Given the description of an element on the screen output the (x, y) to click on. 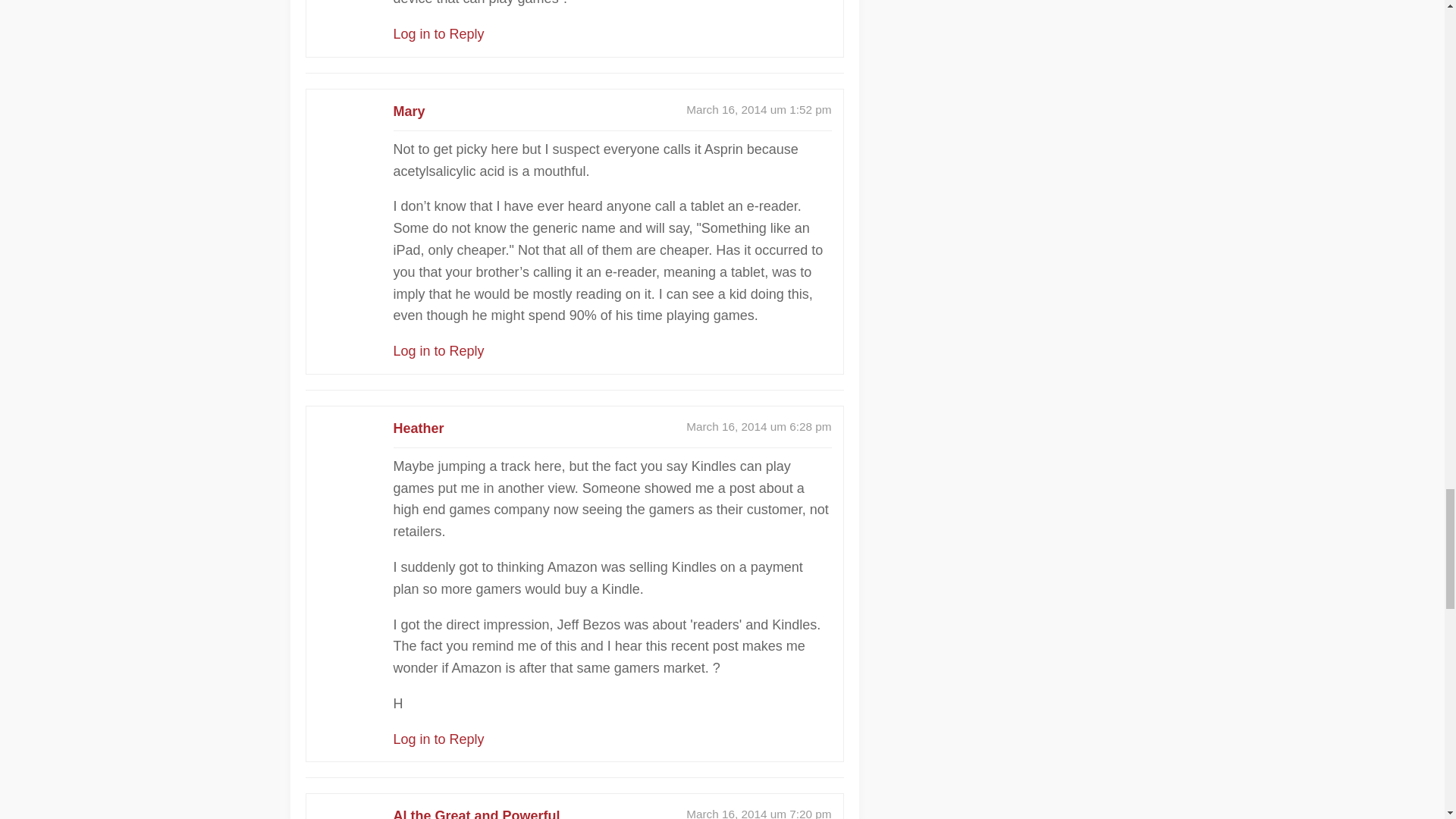
Log in to Reply (438, 350)
Log in to Reply (438, 739)
Log in to Reply (438, 33)
